Given the description of an element on the screen output the (x, y) to click on. 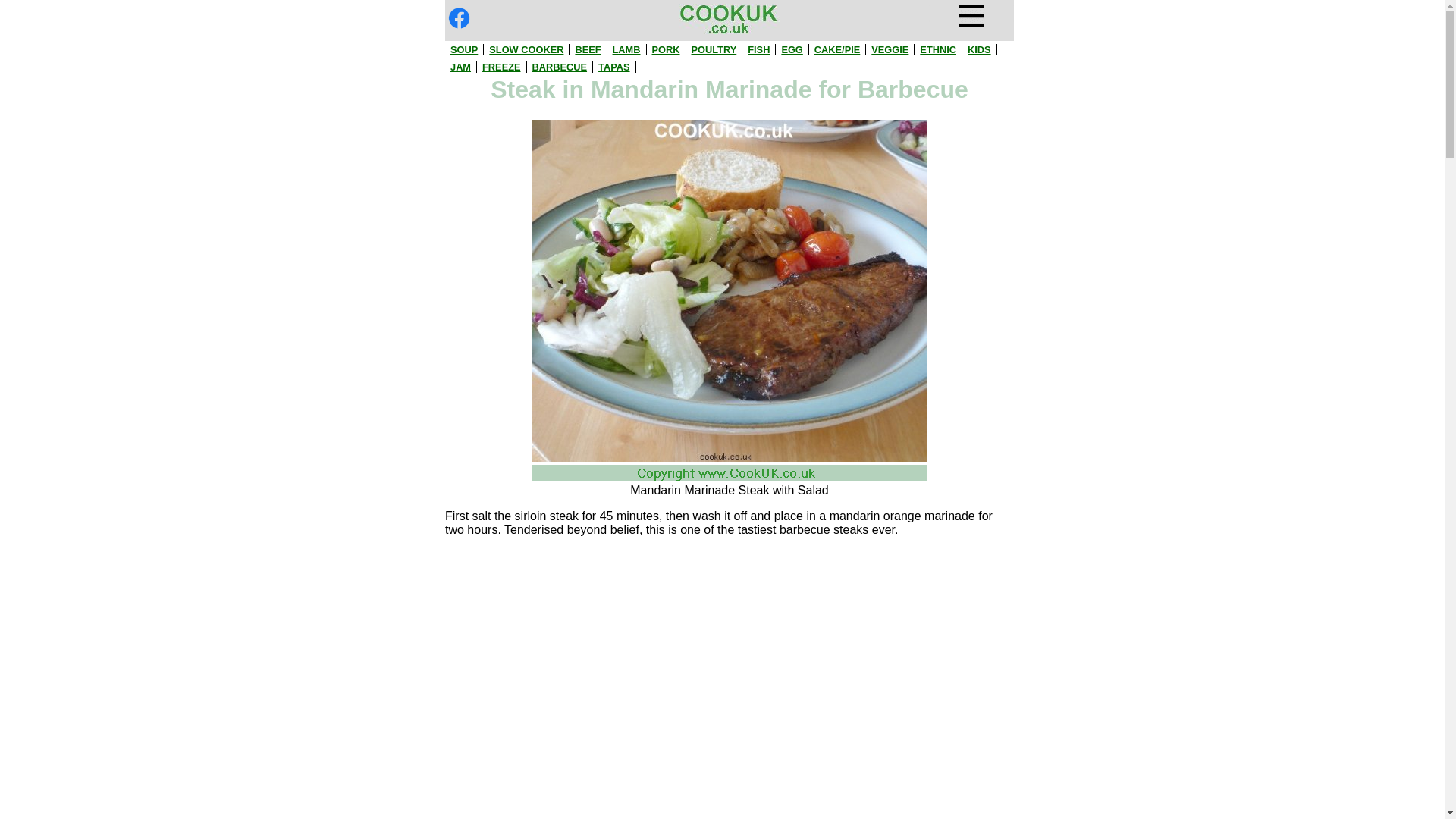
SLOW COOKER (526, 49)
SOUP (463, 49)
BEEF (587, 49)
